Given the description of an element on the screen output the (x, y) to click on. 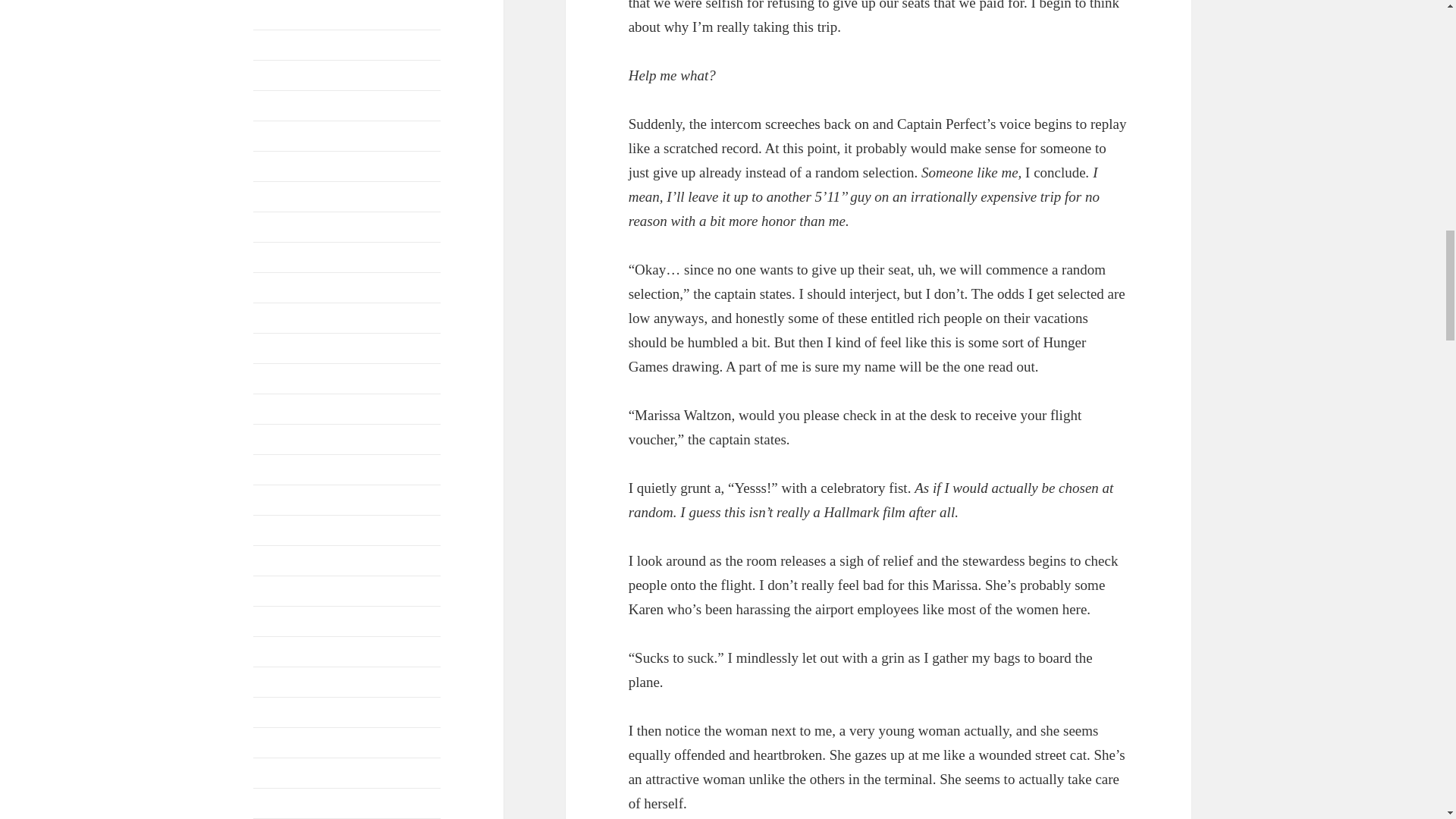
July 2019 (277, 43)
August 2019 (284, 13)
May 2019 (277, 74)
